Given the description of an element on the screen output the (x, y) to click on. 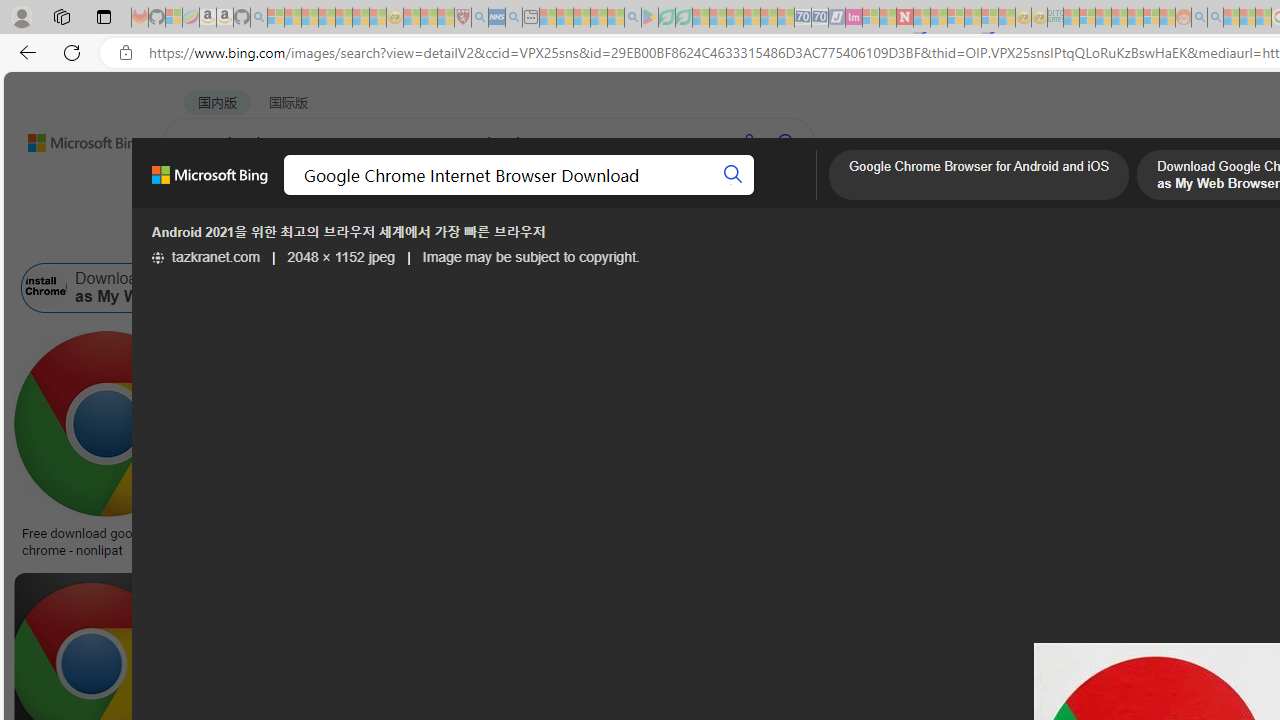
Trusted Community Engagement and Contributions | Guidelines (921, 17)
Image result for Google Chrome Internet Browser Download (965, 423)
Google Chrome Web Browser Free Download (665, 287)
Free download google chrome - nonlipat (106, 541)
Type (372, 237)
Recipes - MSN - Sleeping (411, 17)
Color (305, 237)
People (520, 237)
MORE (793, 195)
Image size (222, 237)
